Given the description of an element on the screen output the (x, y) to click on. 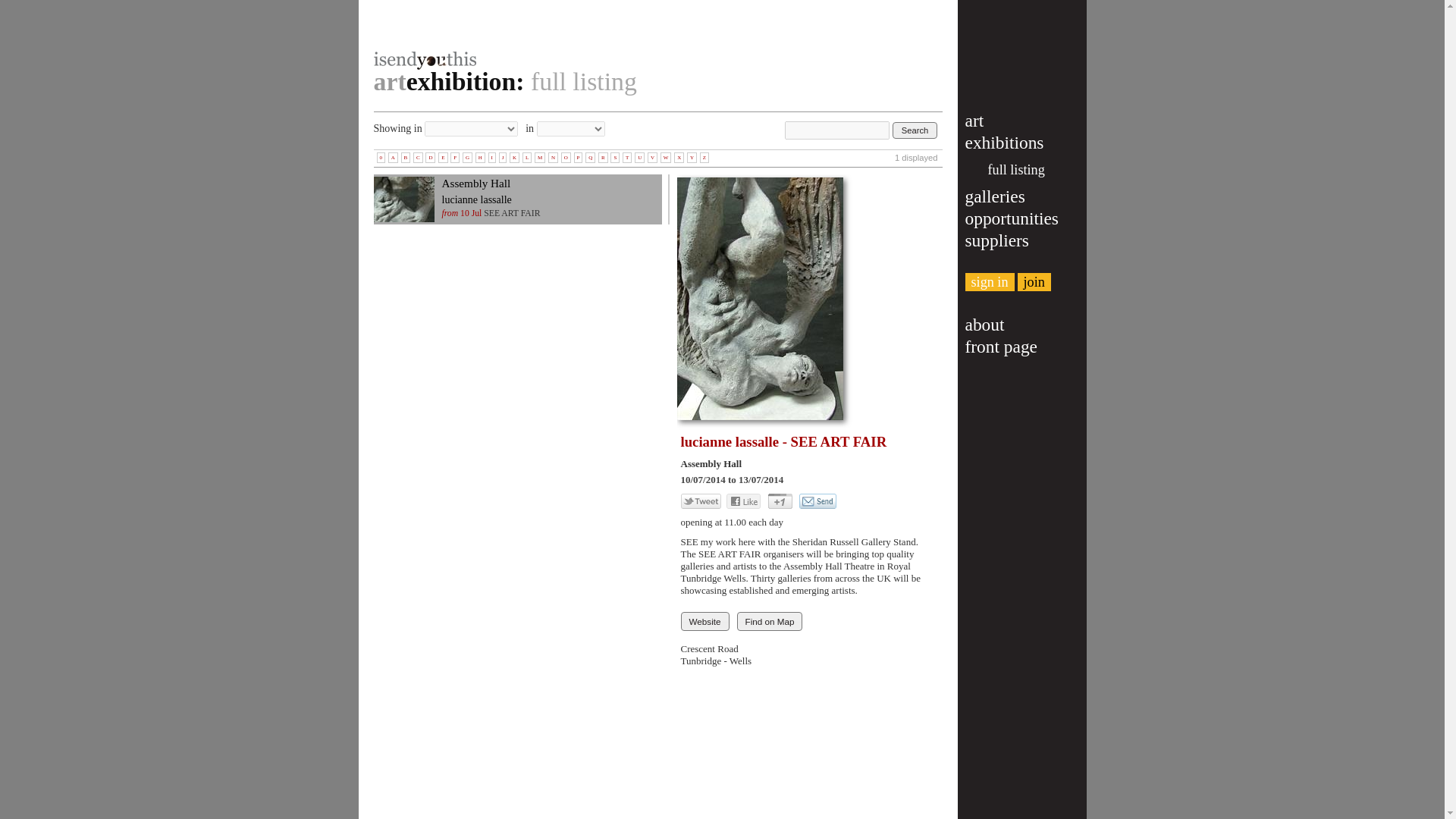
exhibitions (1003, 142)
D (430, 157)
H (480, 157)
full listing (1015, 169)
sign in (988, 281)
Search (914, 130)
isendyouthis.com (664, 35)
Click to share with someone by email (817, 500)
art (973, 120)
A (392, 157)
join (1034, 281)
galleries (994, 196)
G (467, 157)
opportunities (1010, 218)
B (405, 157)
